Given the description of an element on the screen output the (x, y) to click on. 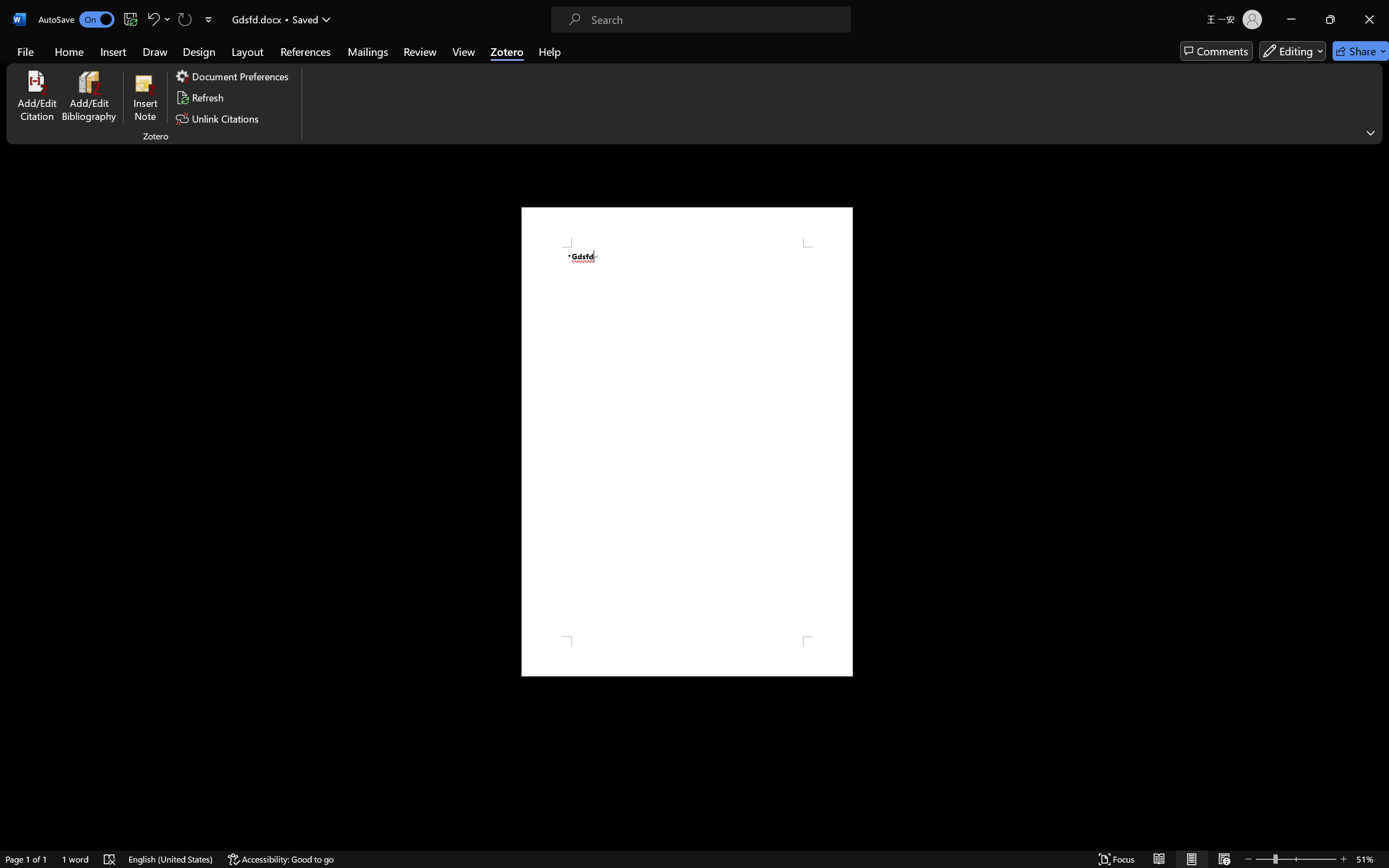
Page 1 content (686, 441)
